Given the description of an element on the screen output the (x, y) to click on. 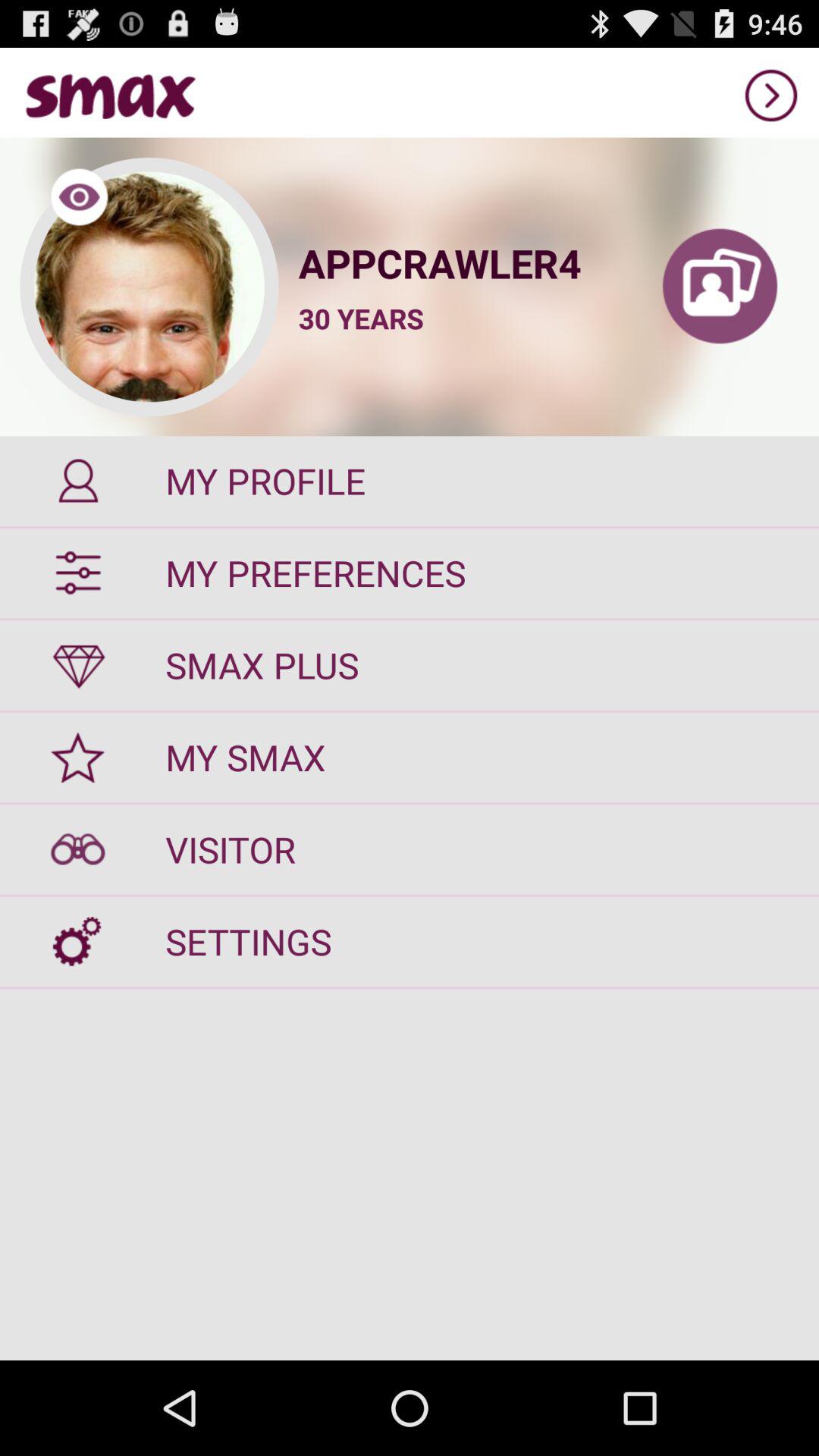
choose the my profile icon (409, 481)
